Given the description of an element on the screen output the (x, y) to click on. 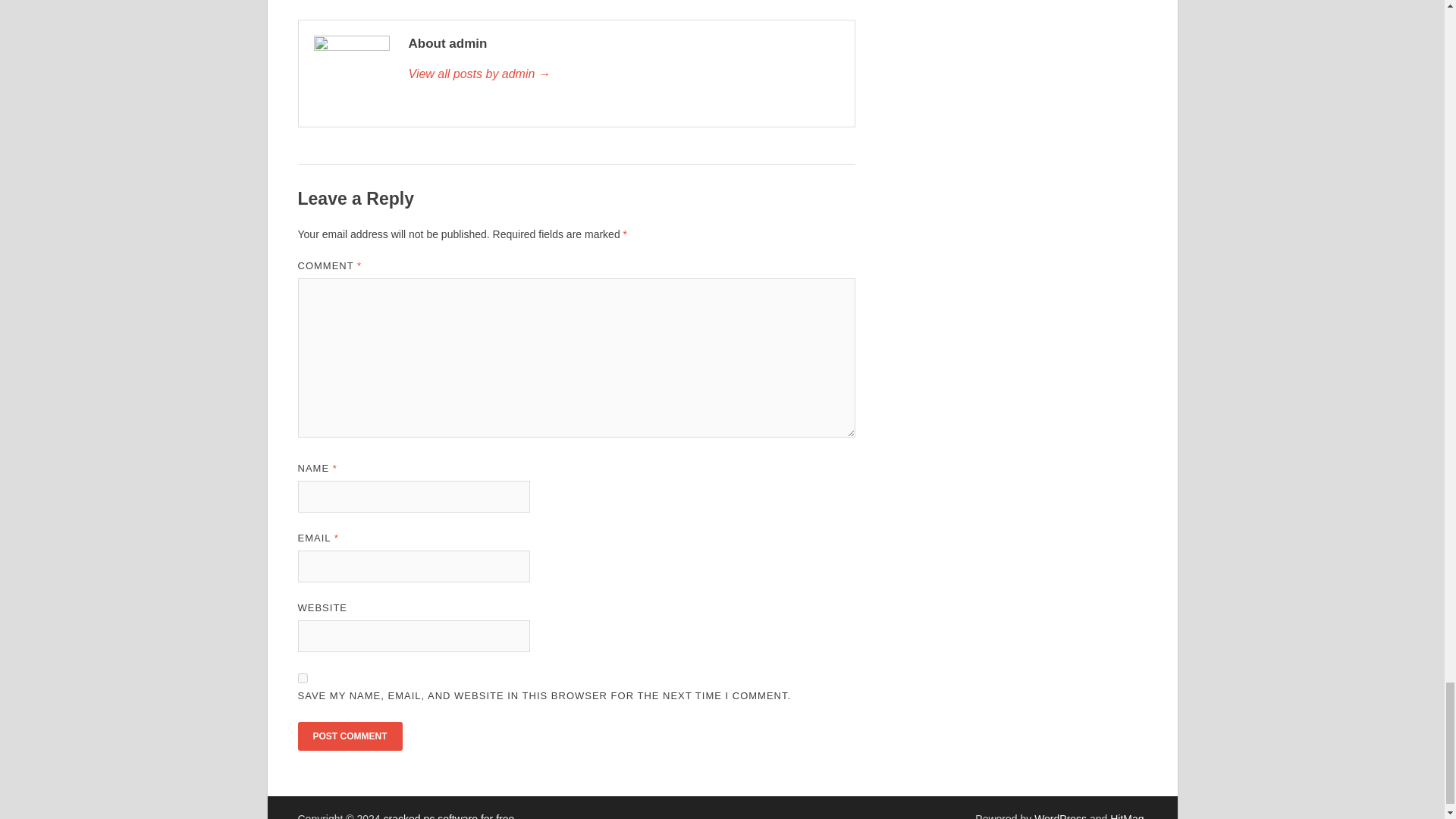
admin (622, 74)
Post Comment (349, 736)
yes (302, 678)
